Given the description of an element on the screen output the (x, y) to click on. 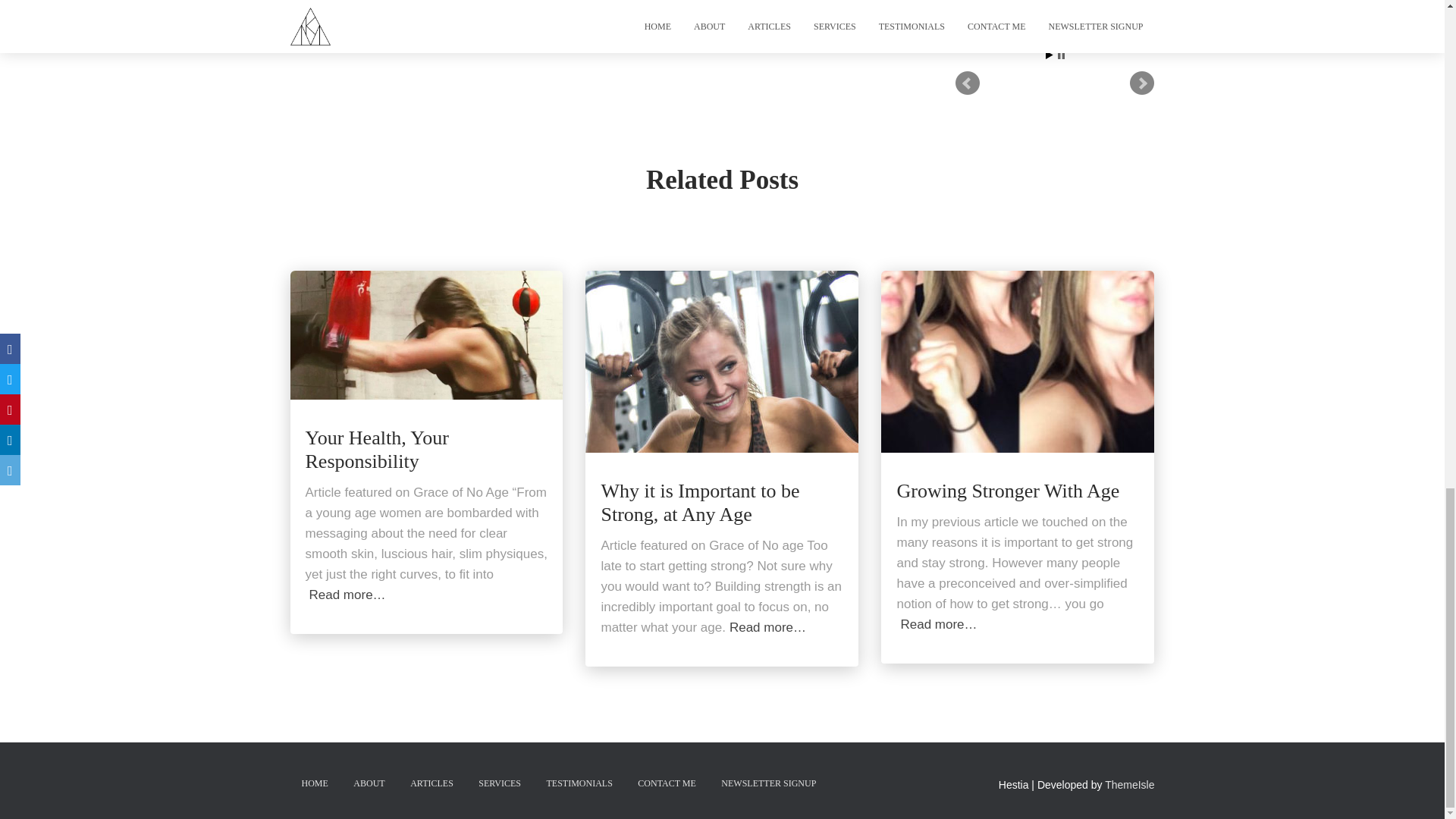
Your Health, Your Responsibility (425, 334)
Your Health, Your Responsibility (376, 450)
